Given the description of an element on the screen output the (x, y) to click on. 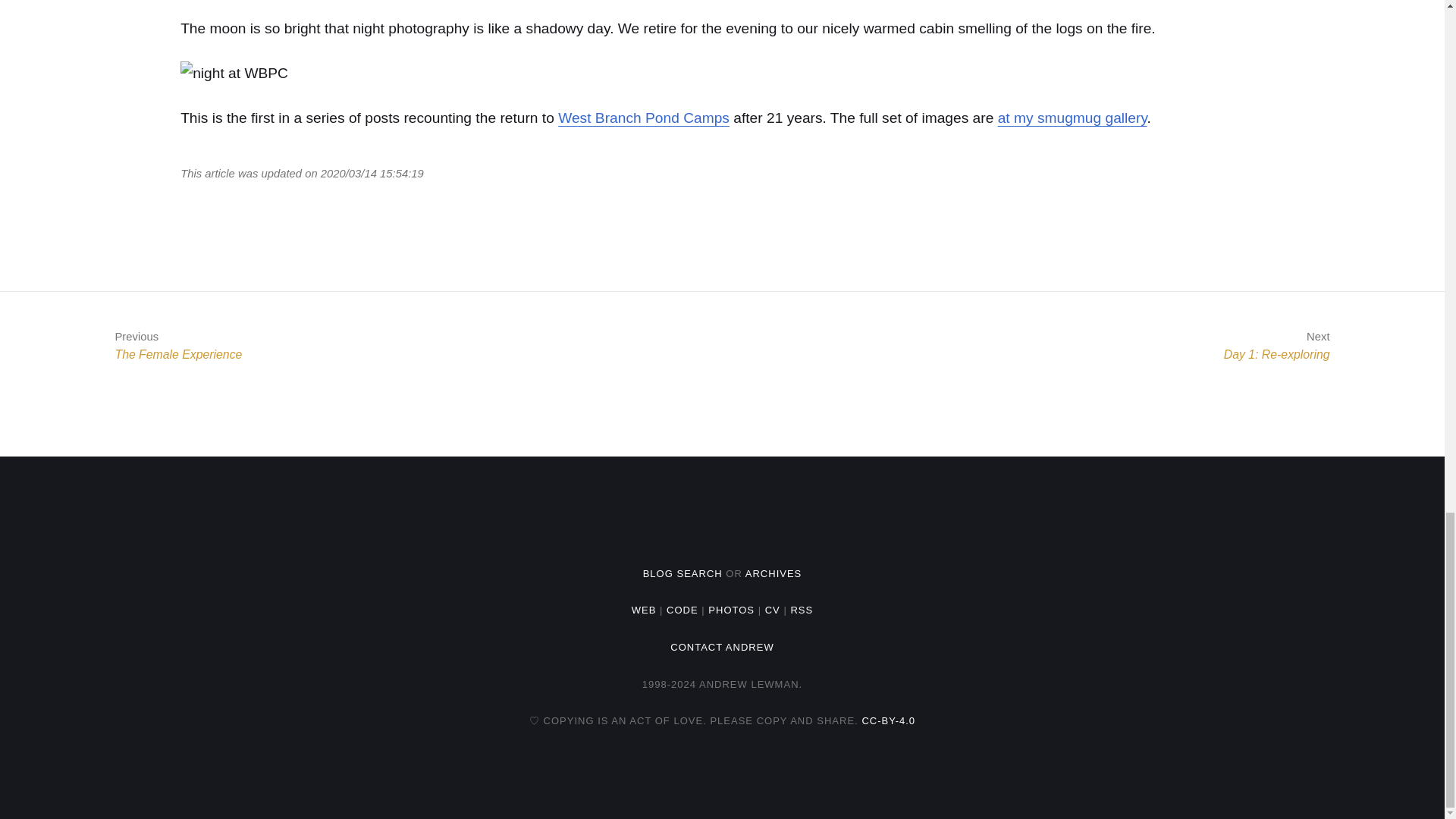
CODE (682, 609)
night at WBPC (234, 73)
CV (772, 609)
ARCHIVES (773, 573)
West Branch Pond Camps (643, 117)
PHOTOS (171, 345)
RSS (730, 609)
at my smugmug gallery (801, 609)
WEB (1072, 117)
BLOG SEARCH (643, 609)
CONTACT ANDREW (682, 573)
CC-BY-4.0 (721, 646)
